Given the description of an element on the screen output the (x, y) to click on. 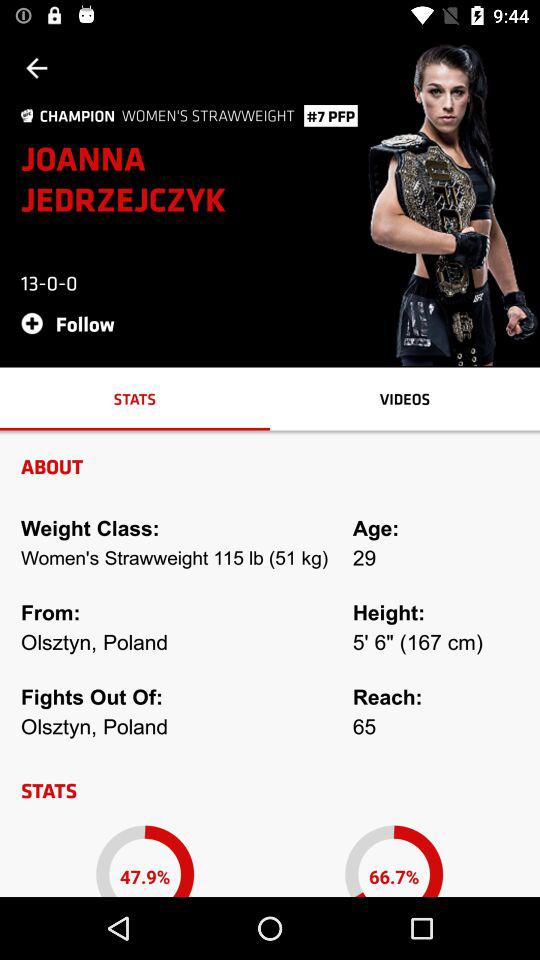
tap icon above stats item (74, 322)
